Given the description of an element on the screen output the (x, y) to click on. 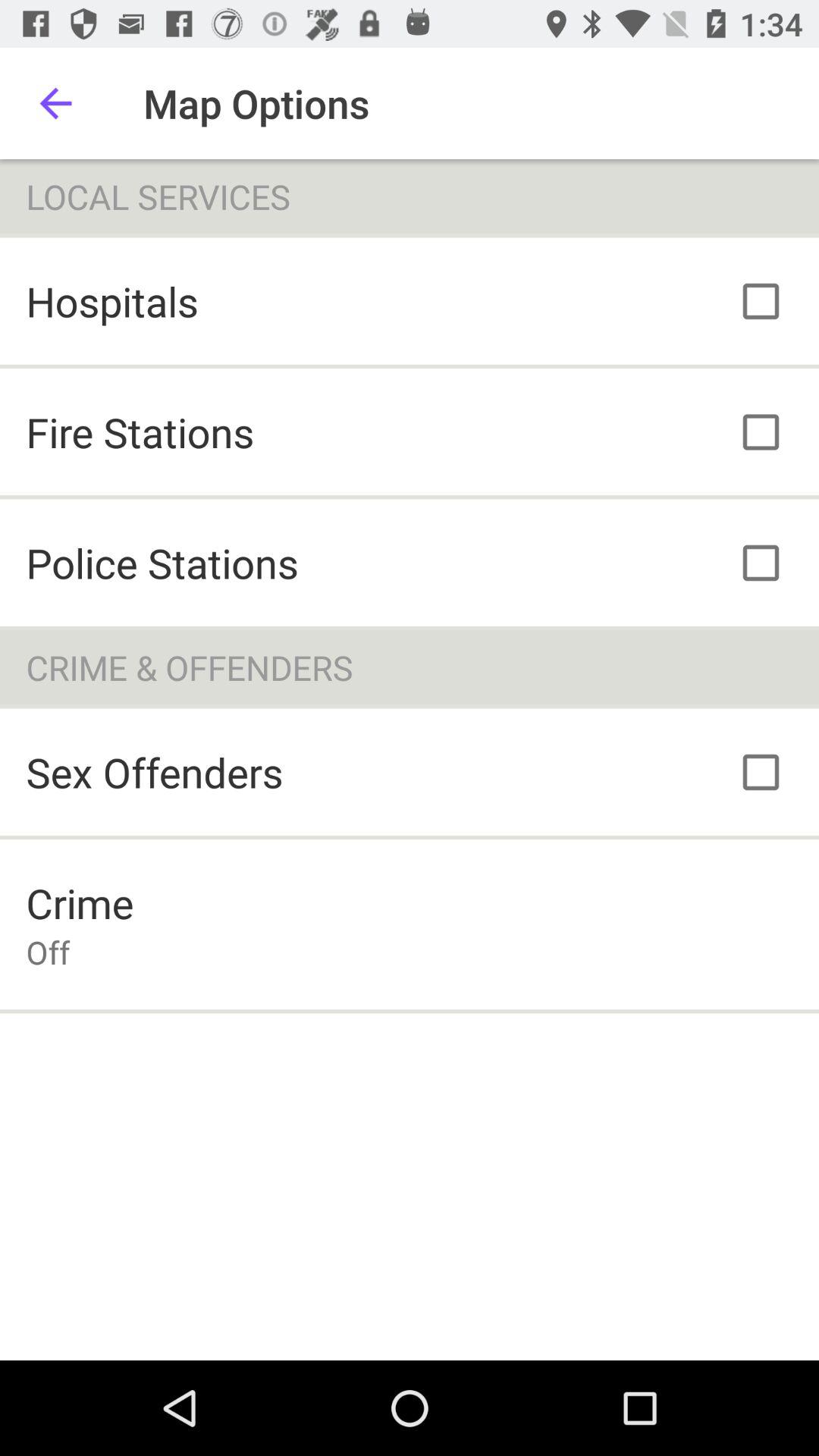
select off item (47, 951)
